Given the description of an element on the screen output the (x, y) to click on. 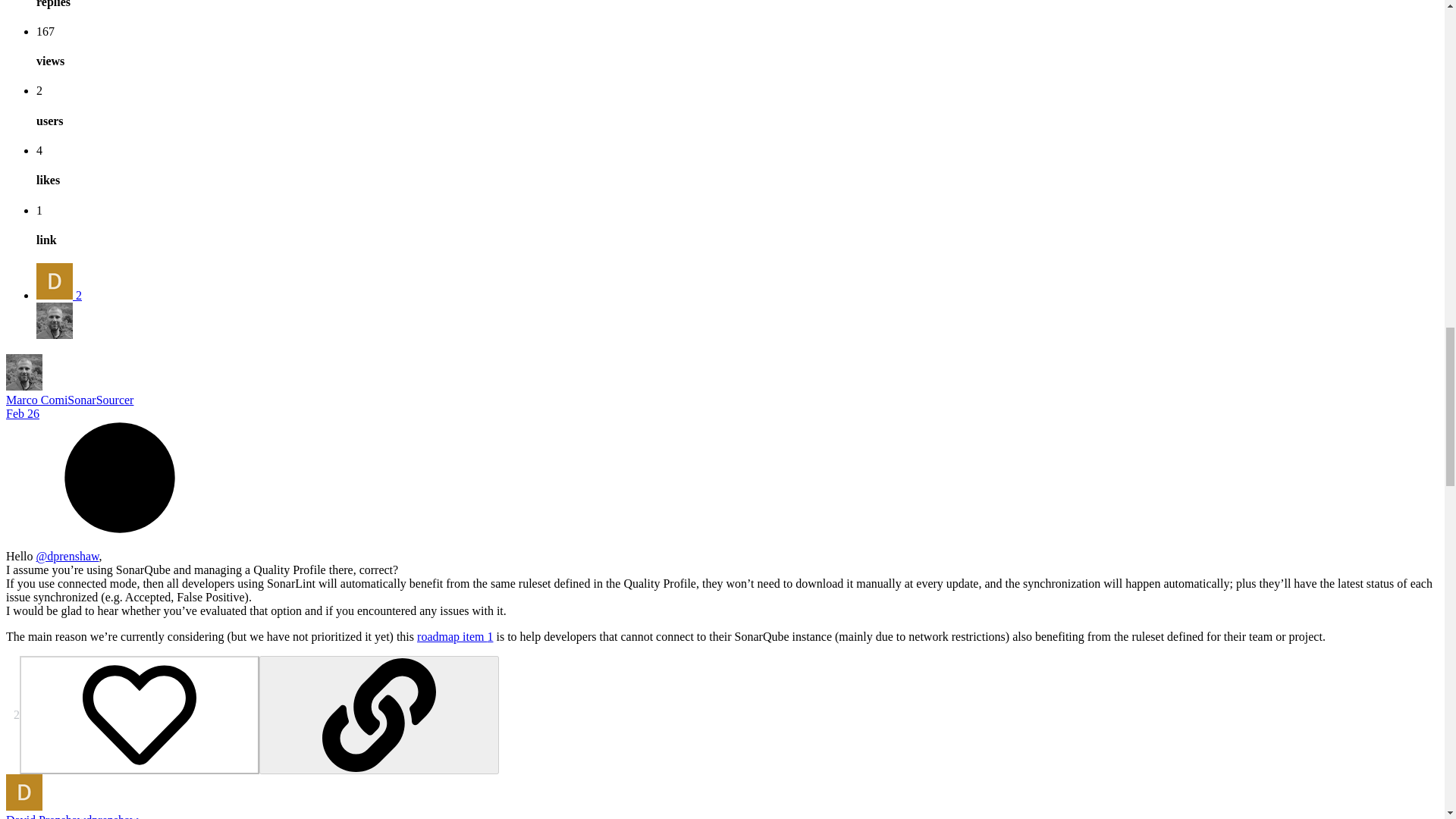
Feb 26 (22, 413)
David Prenshaw (45, 816)
roadmap item 1 (454, 635)
dprenshaw (111, 816)
SonarSourcer (99, 399)
2 (58, 295)
Marco Comi (35, 399)
